Given the description of an element on the screen output the (x, y) to click on. 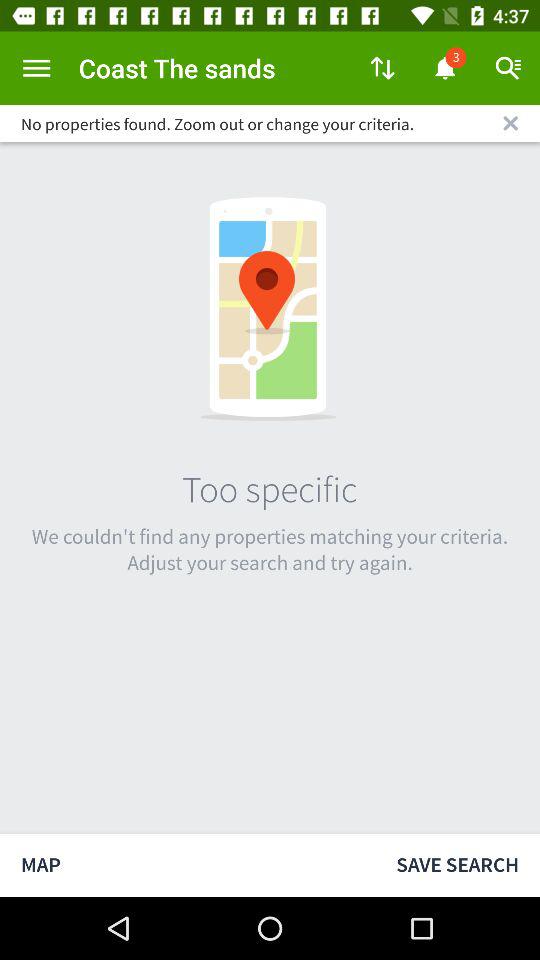
launch the icon to the right of map (457, 864)
